Given the description of an element on the screen output the (x, y) to click on. 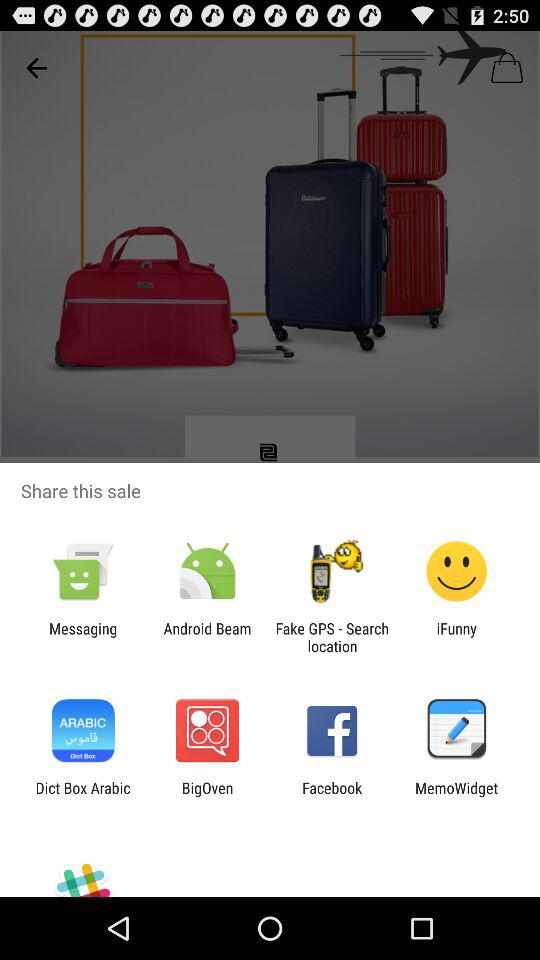
turn on the icon next to bigoven item (82, 796)
